Given the description of an element on the screen output the (x, y) to click on. 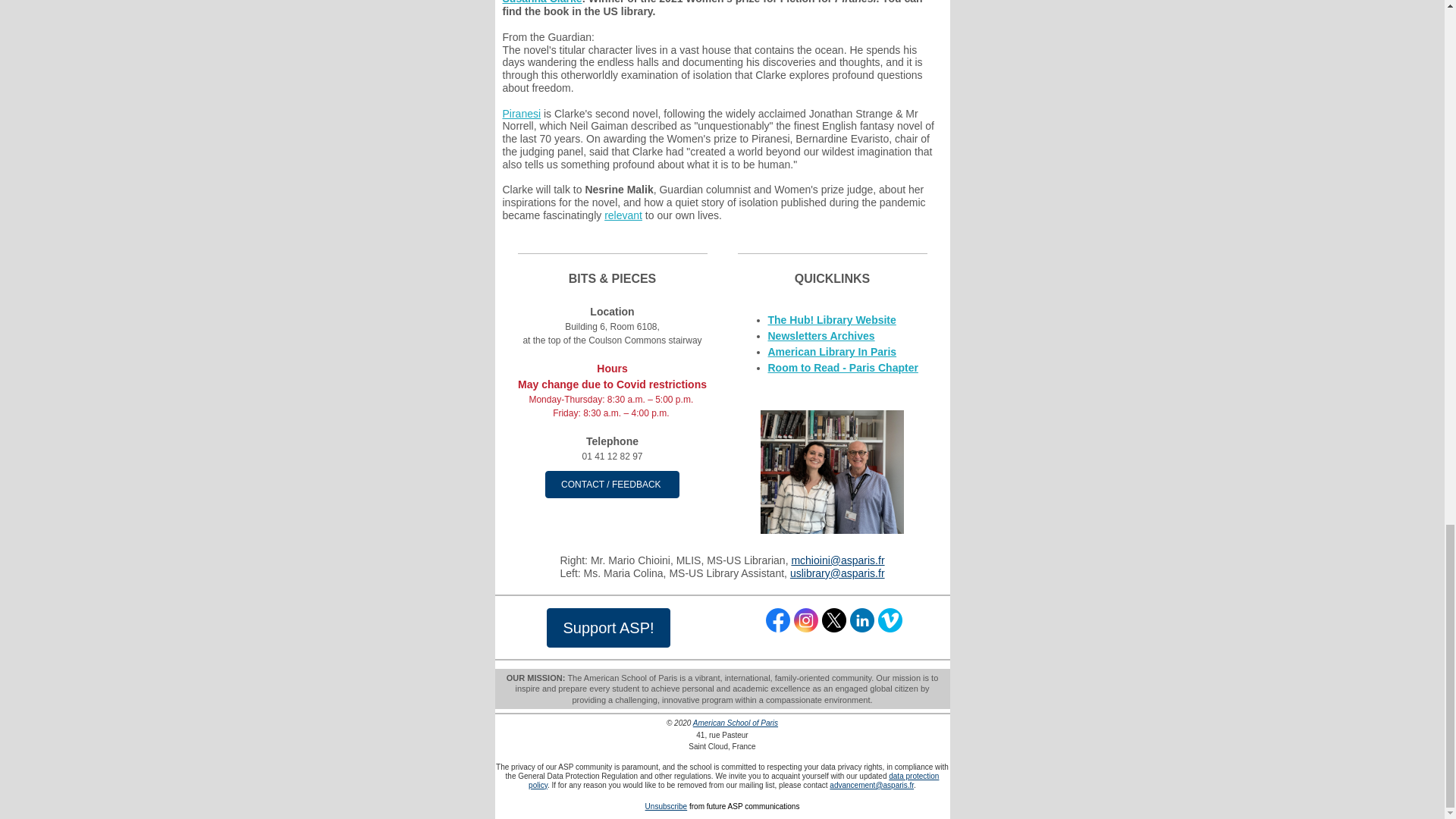
data protection policy (733, 780)
Support ASP! (608, 627)
Vimeo (889, 620)
Facebook (777, 620)
American School of Paris (735, 723)
LinkedIn (862, 620)
The Hub! Library Website (831, 319)
Instagram (805, 620)
ASP Data Protection Policy (733, 780)
Unsubscribe (666, 806)
relevant (623, 215)
Room to Read - Paris Chapter (842, 367)
Piranesi (521, 112)
Twitter (833, 620)
American Library In Paris (831, 351)
